Given the description of an element on the screen output the (x, y) to click on. 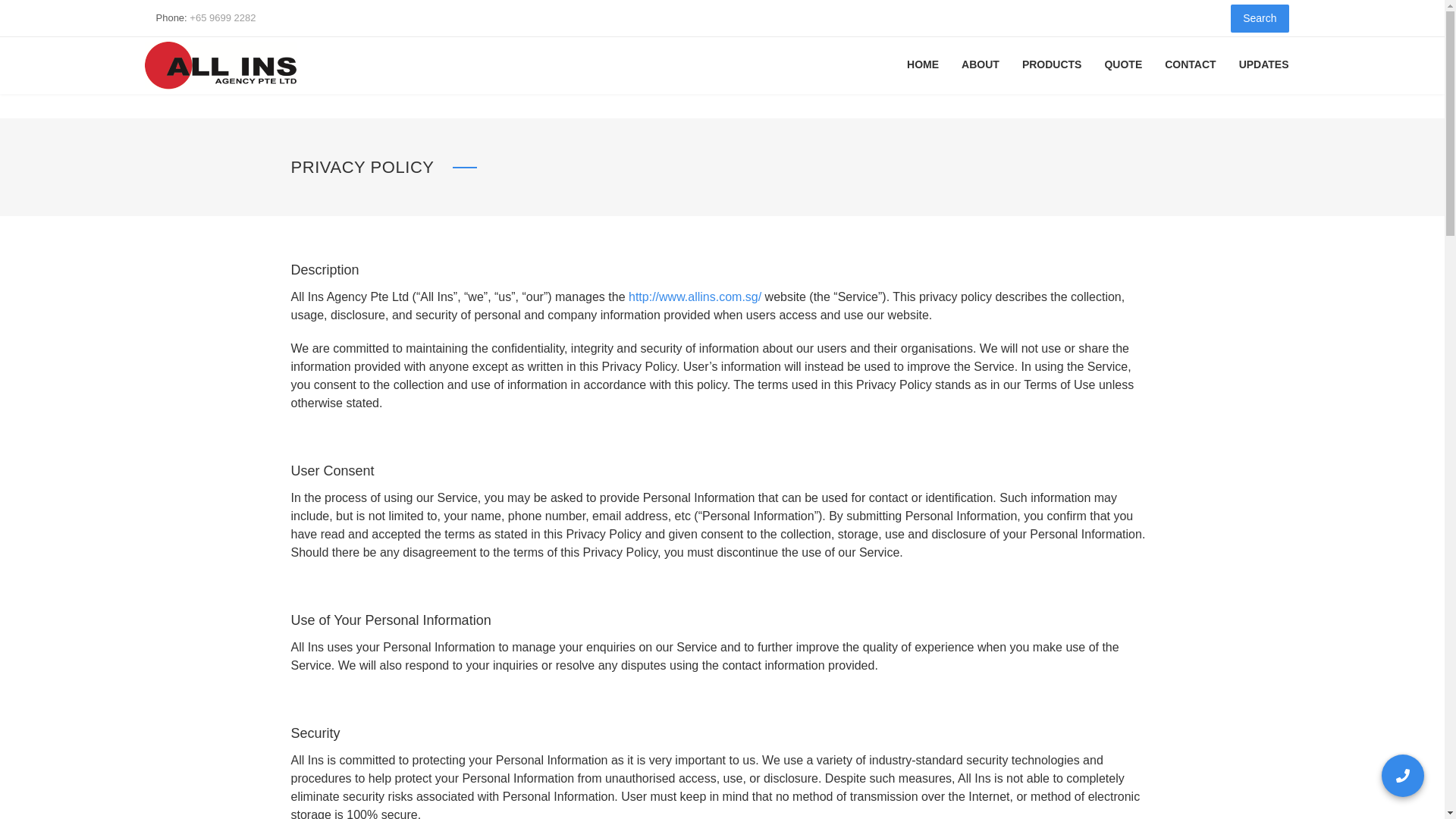
UPDATES (1263, 64)
PRODUCTS (1051, 64)
CONTACT (1189, 64)
Search (1259, 18)
